Given the description of an element on the screen output the (x, y) to click on. 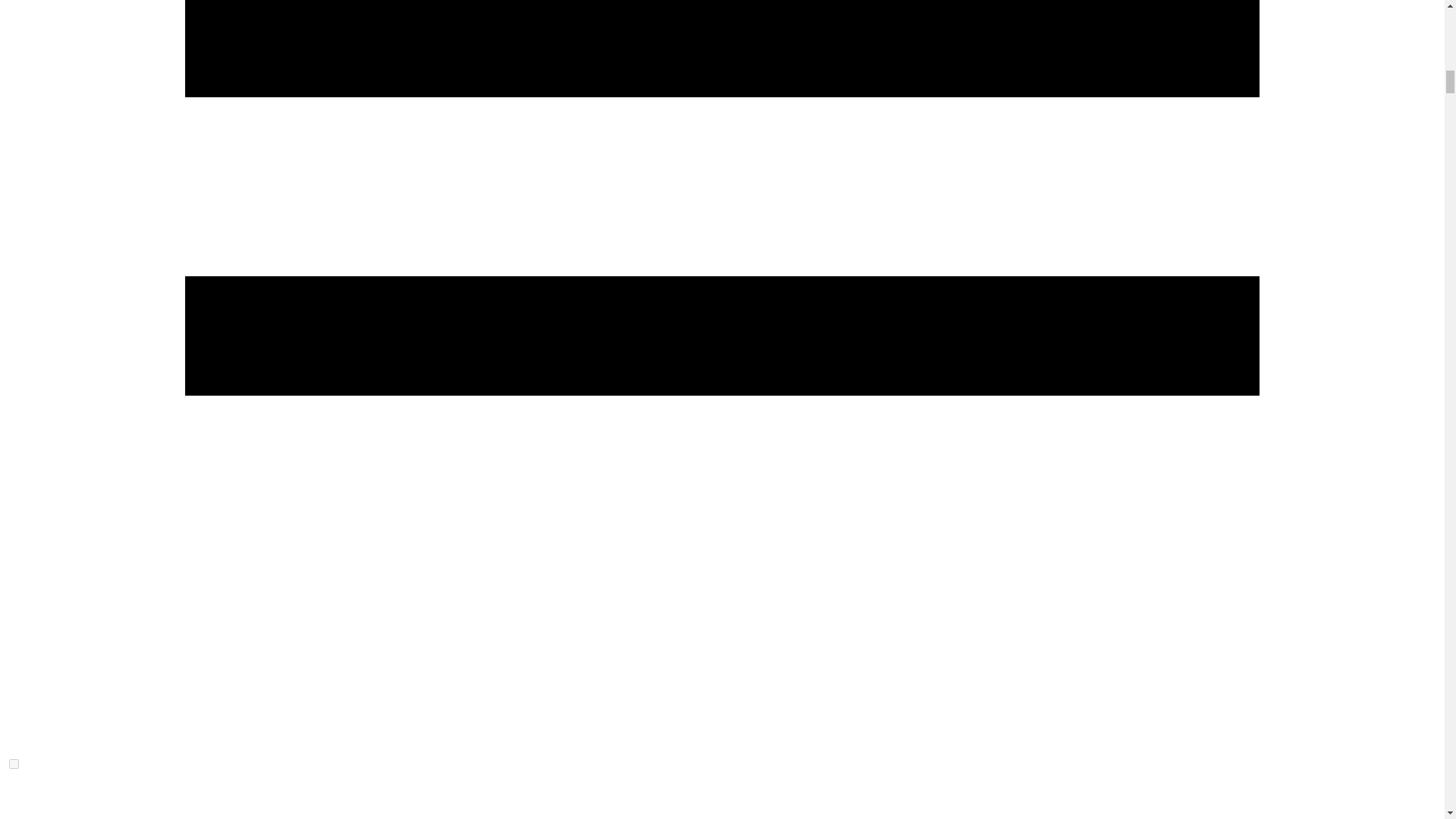
on (13, 764)
